Given the description of an element on the screen output the (x, y) to click on. 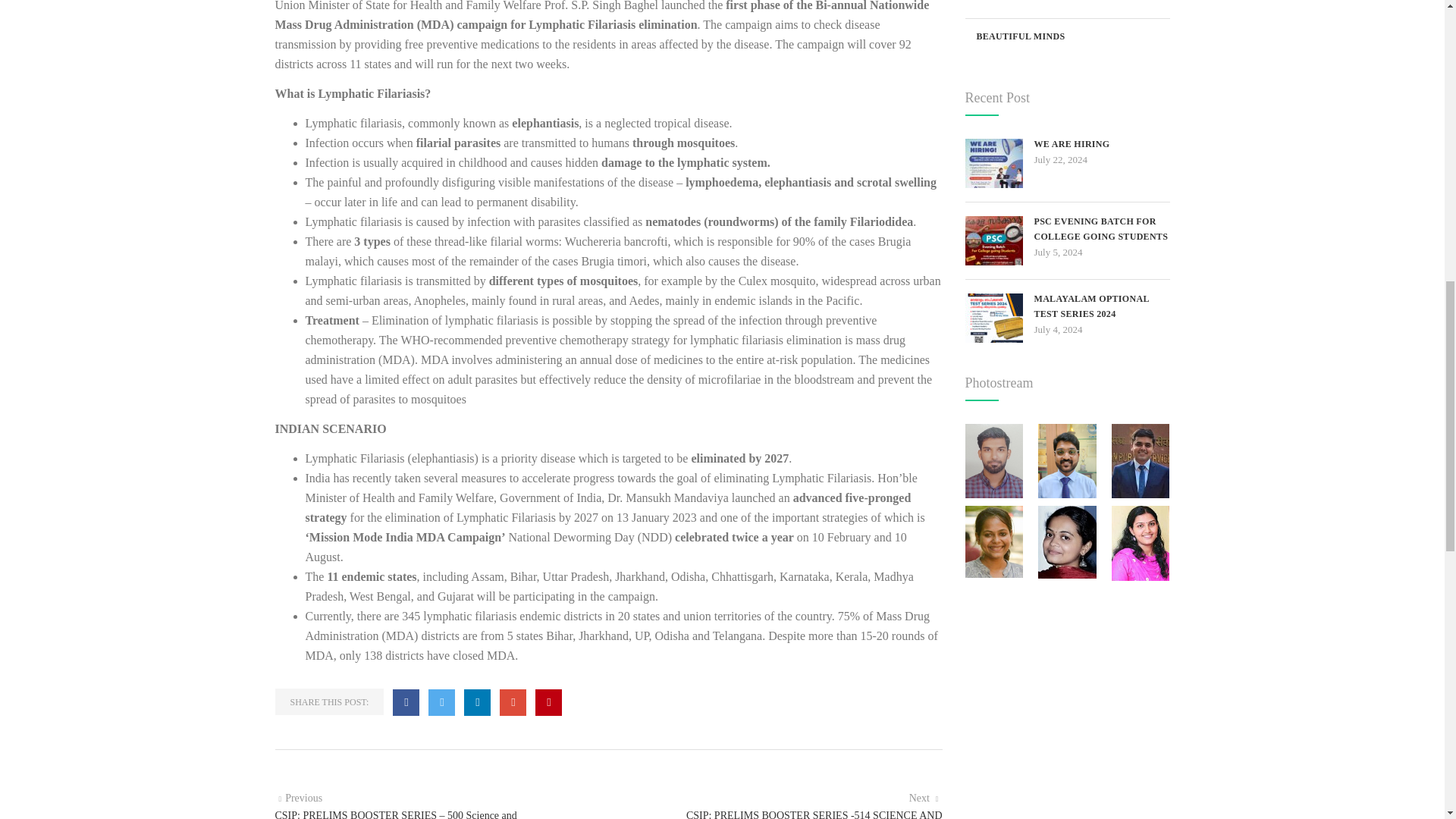
Share on LinkedIn (477, 702)
Share on facebook (406, 702)
Share on Pinterest (548, 702)
Share on Twitter (441, 702)
CSIP: PRELIMS BOOSTER SERIES -514 SCIENCE AND TECHNOLOGY (925, 797)
Share on Google plus (512, 702)
